Given the description of an element on the screen output the (x, y) to click on. 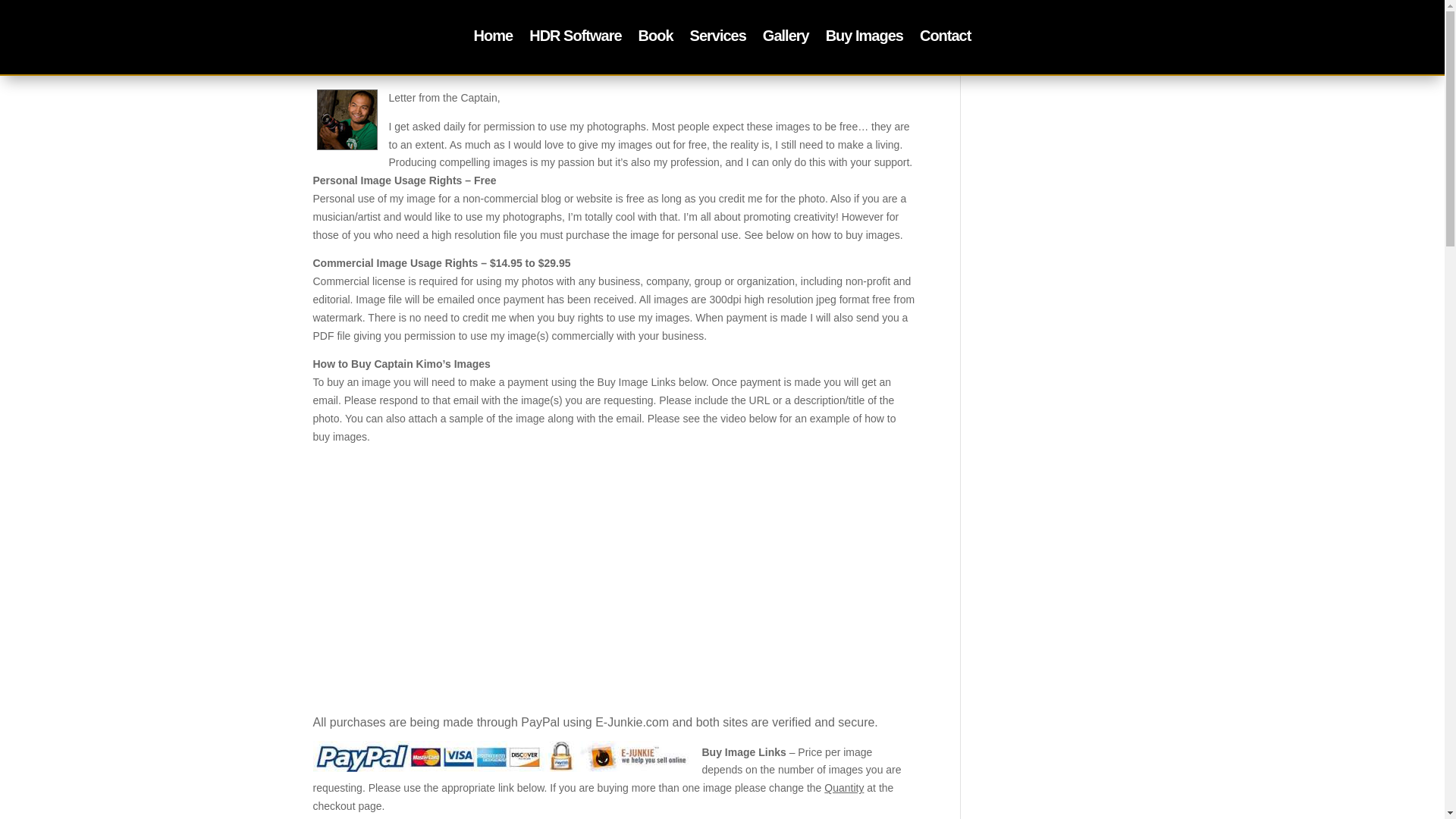
about (347, 119)
Services (717, 38)
HDR Software (575, 38)
Gallery (785, 38)
Buy Images (863, 38)
Contact (945, 38)
Book (655, 38)
Home (493, 38)
Buy Captain Kimo Images (863, 38)
